Given the description of an element on the screen output the (x, y) to click on. 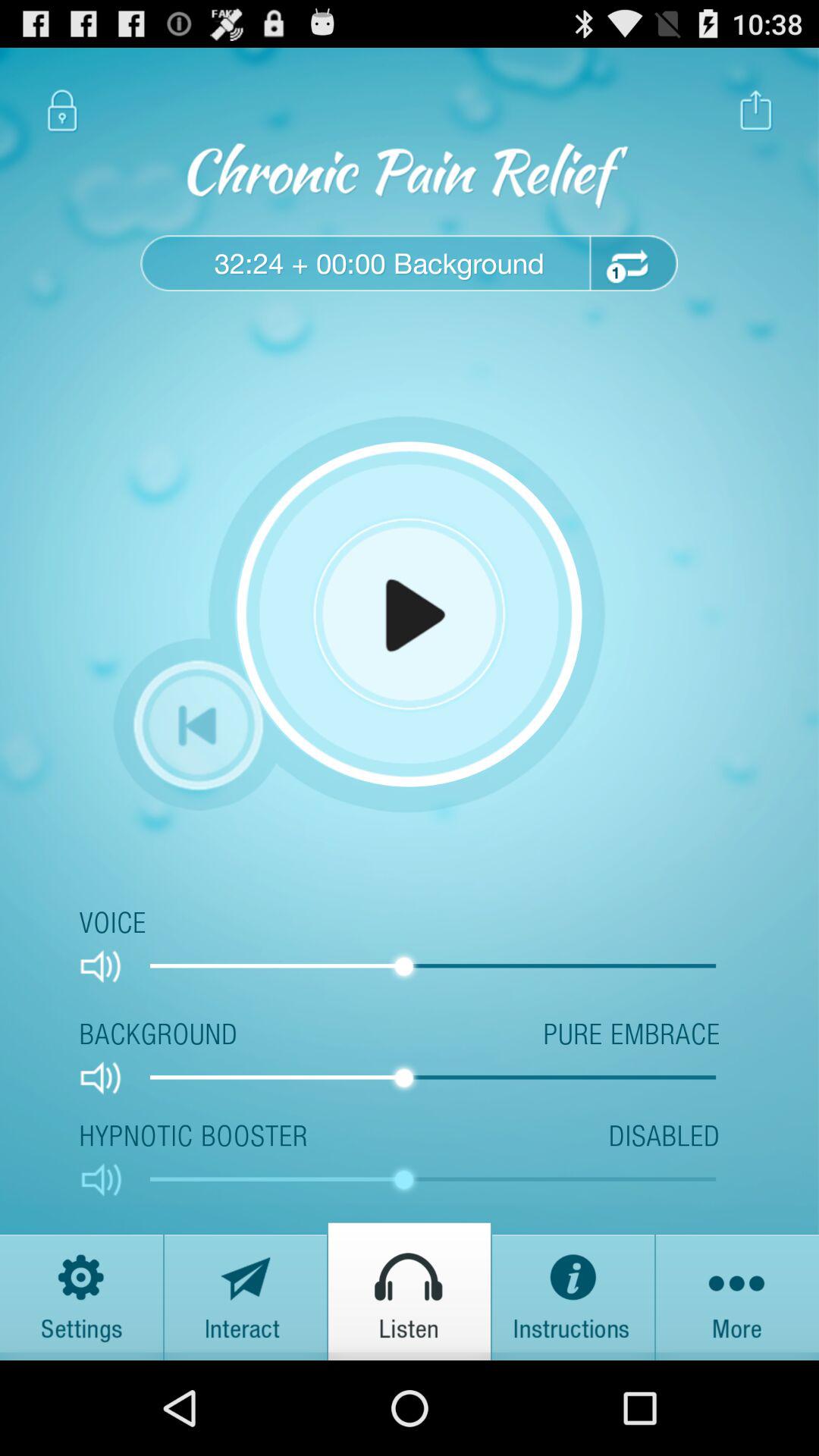
open item at the top left corner (62, 110)
